Given the description of an element on the screen output the (x, y) to click on. 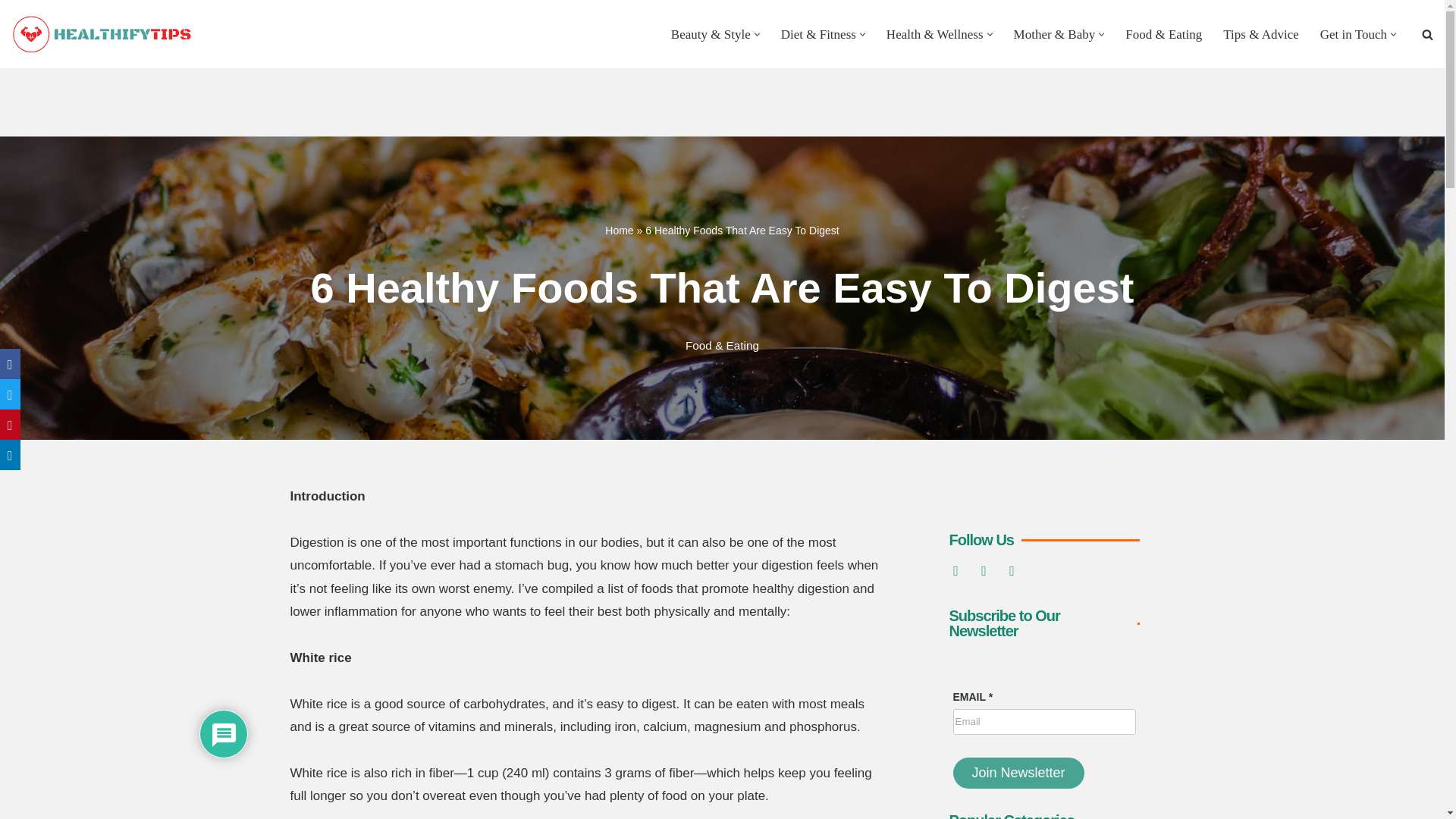
Get in Touch (1353, 34)
Skip to content (11, 31)
